Given the description of an element on the screen output the (x, y) to click on. 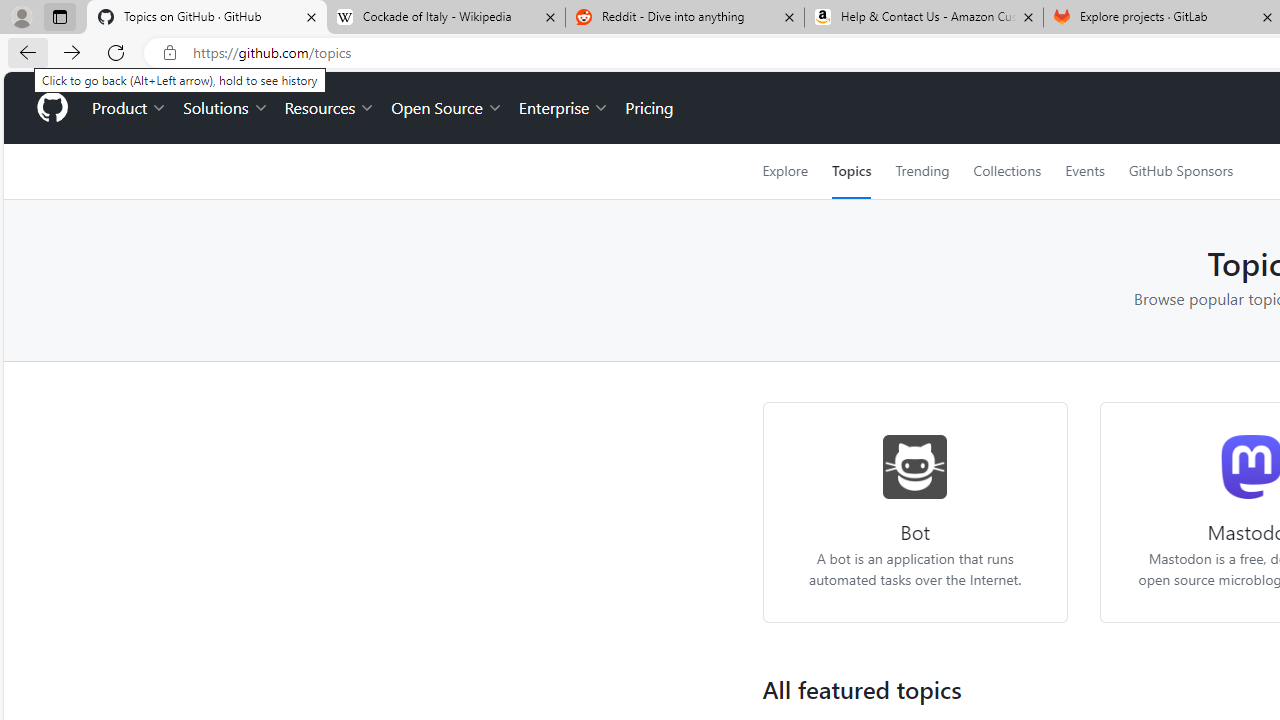
Reddit - Dive into anything (684, 17)
Enterprise (563, 107)
Pricing (649, 107)
Explore (784, 171)
Forward (72, 52)
Open Source (446, 107)
Solutions (225, 107)
Product (130, 107)
Open Source (446, 107)
Homepage (51, 107)
